Given the description of an element on the screen output the (x, y) to click on. 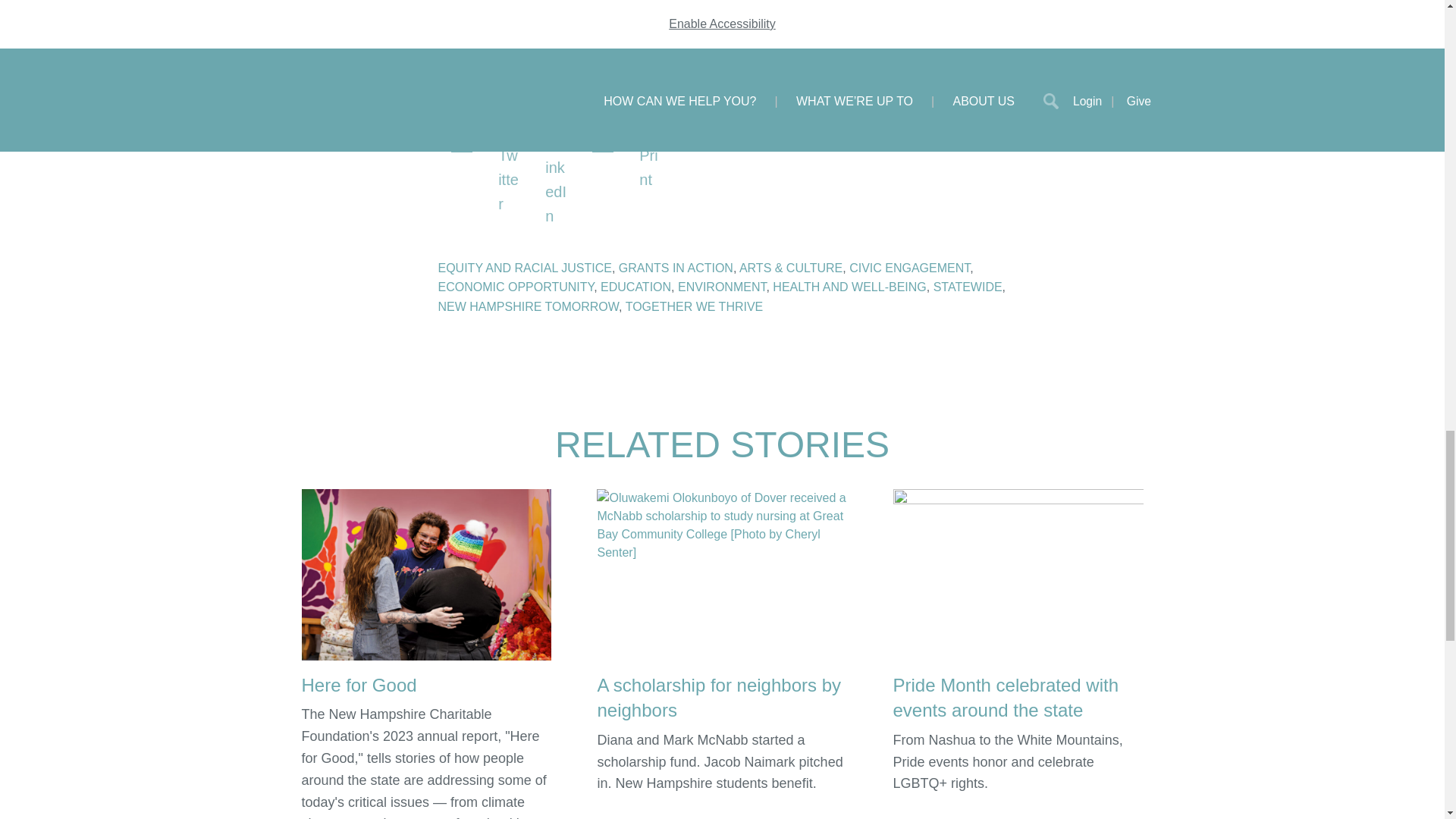
Print (654, 143)
Email (607, 143)
Facebook (466, 143)
LinkedIn (559, 143)
Twitter (512, 143)
